Given the description of an element on the screen output the (x, y) to click on. 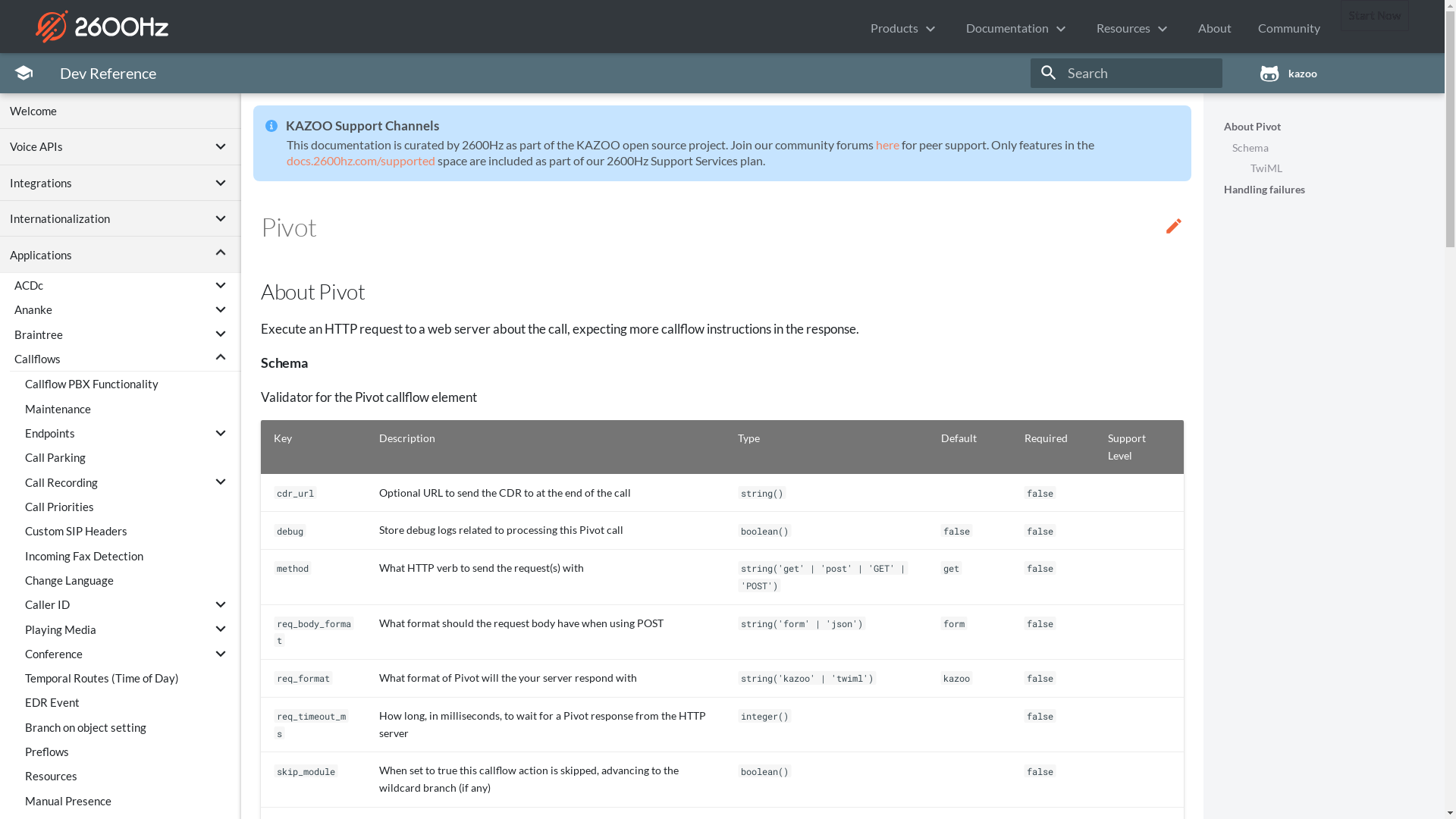
About Pivot Element type: text (1324, 126)
EDR Event Element type: text (129, 702)
Handling failures Element type: text (1324, 189)
docs.2600hz.com/supported Element type: text (360, 160)
Change Language Element type: text (129, 579)
Schema Element type: text (1329, 148)
Resources Element type: text (129, 775)
Preflows Element type: text (129, 751)
Temporal Routes (Time of Day) Element type: text (129, 677)
About Element type: text (1214, 27)
Branch on object setting Element type: text (129, 727)
here Element type: text (886, 144)
Callflow PBX Functionality Element type: text (129, 383)
Call Priorities Element type: text (129, 506)
Community Element type: text (1289, 27)
Manual Presence Element type: text (129, 800)
Custom SIP Headers Element type: text (129, 530)
Call Parking Element type: text (129, 457)
2600Hz Element type: hover (94, 26)
TwiML Element type: text (1334, 168)
Welcome Element type: text (120, 110)
kazoo Element type: text (1340, 73)
Incoming Fax Detection Element type: text (129, 554)
Maintenance Element type: text (129, 407)
